Given the description of an element on the screen output the (x, y) to click on. 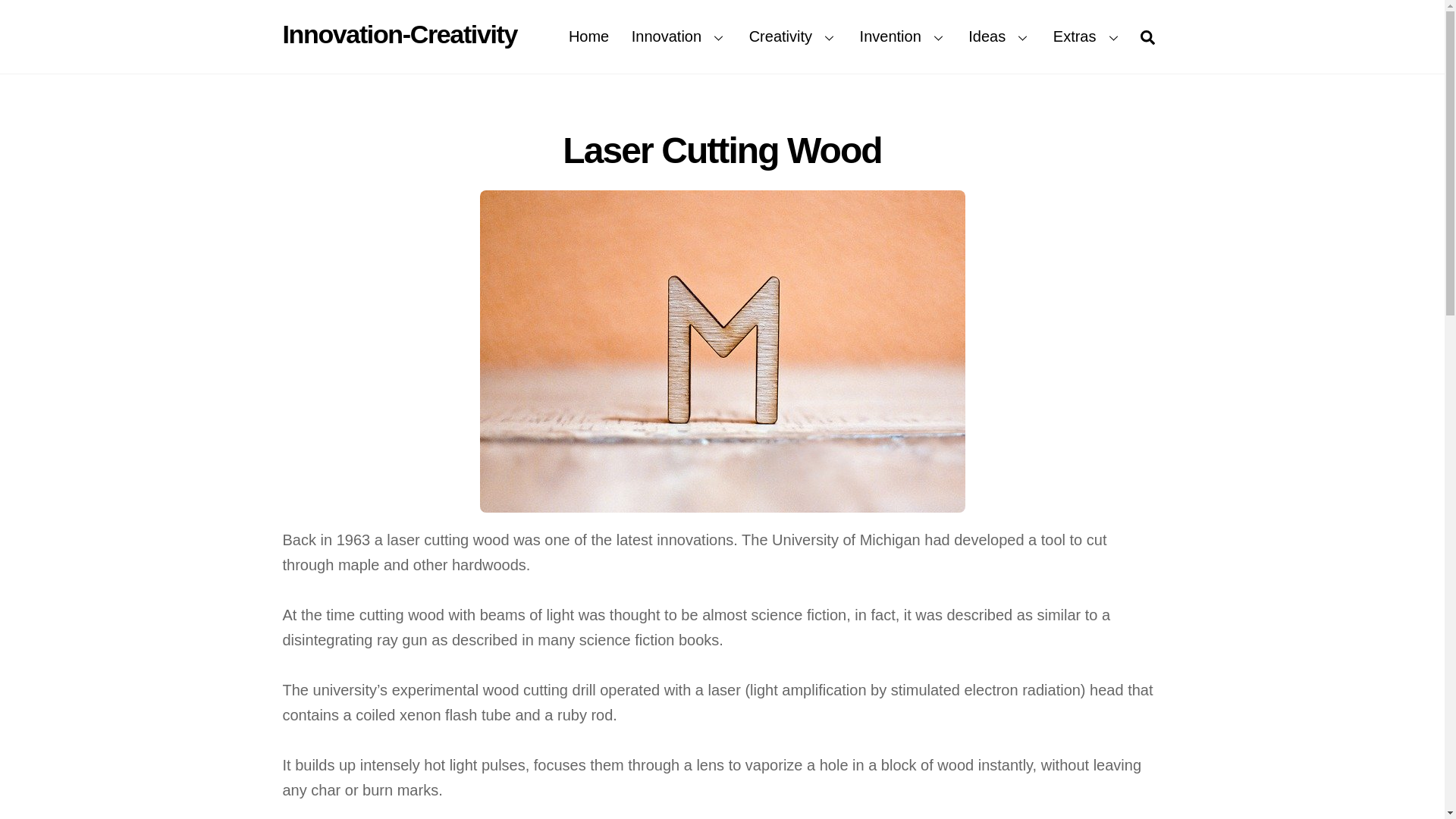
Home (588, 36)
Innovation-Creativity (399, 33)
Innovation (679, 36)
Innovation-Creativity (399, 33)
Search (1146, 36)
Creativity (721, 36)
